Given the description of an element on the screen output the (x, y) to click on. 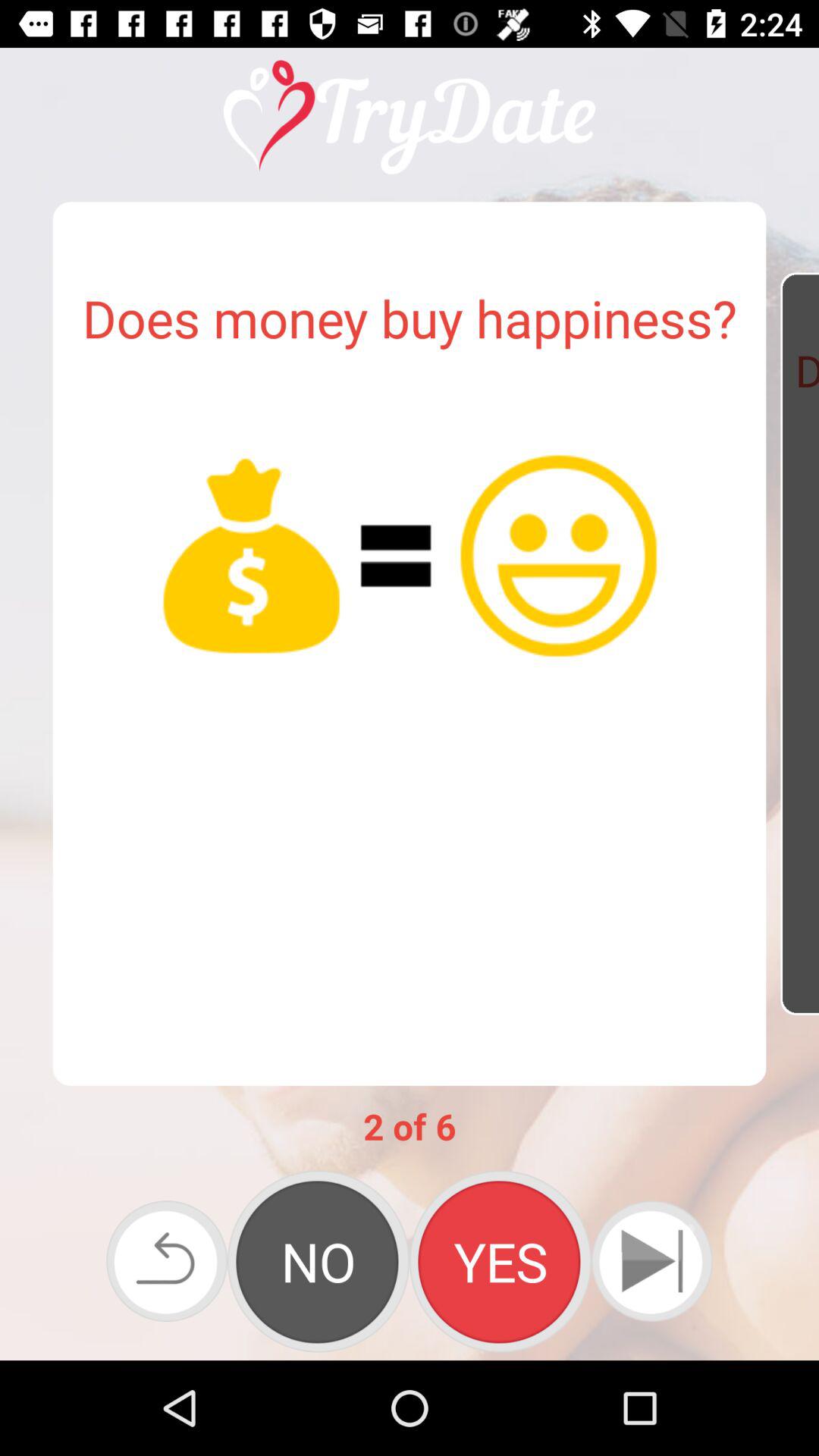
answer no (318, 1261)
